Given the description of an element on the screen output the (x, y) to click on. 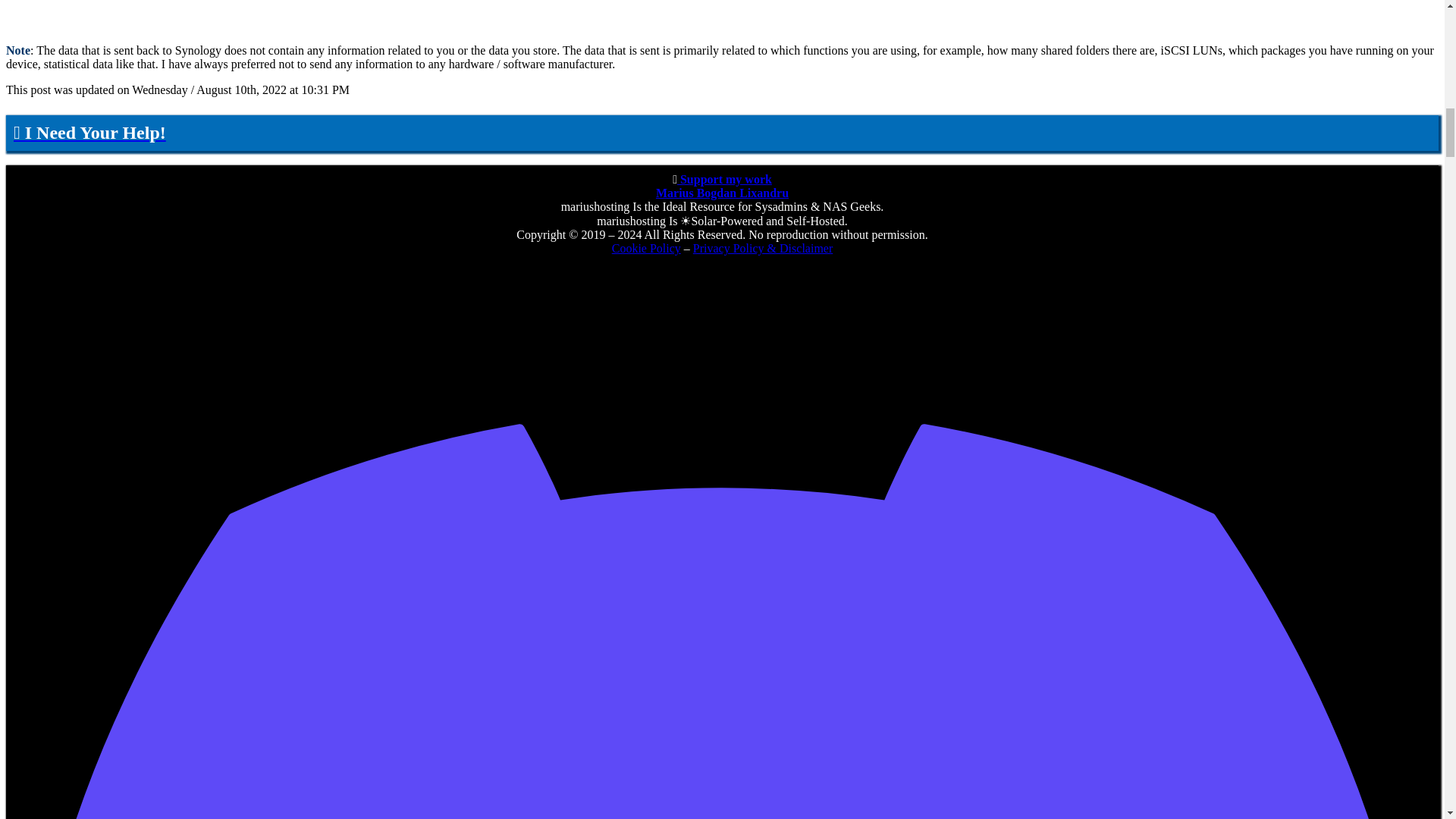
 Support my work (724, 178)
Marius Bogdan Lixandru (722, 192)
Cookie Policy (646, 247)
